Given the description of an element on the screen output the (x, y) to click on. 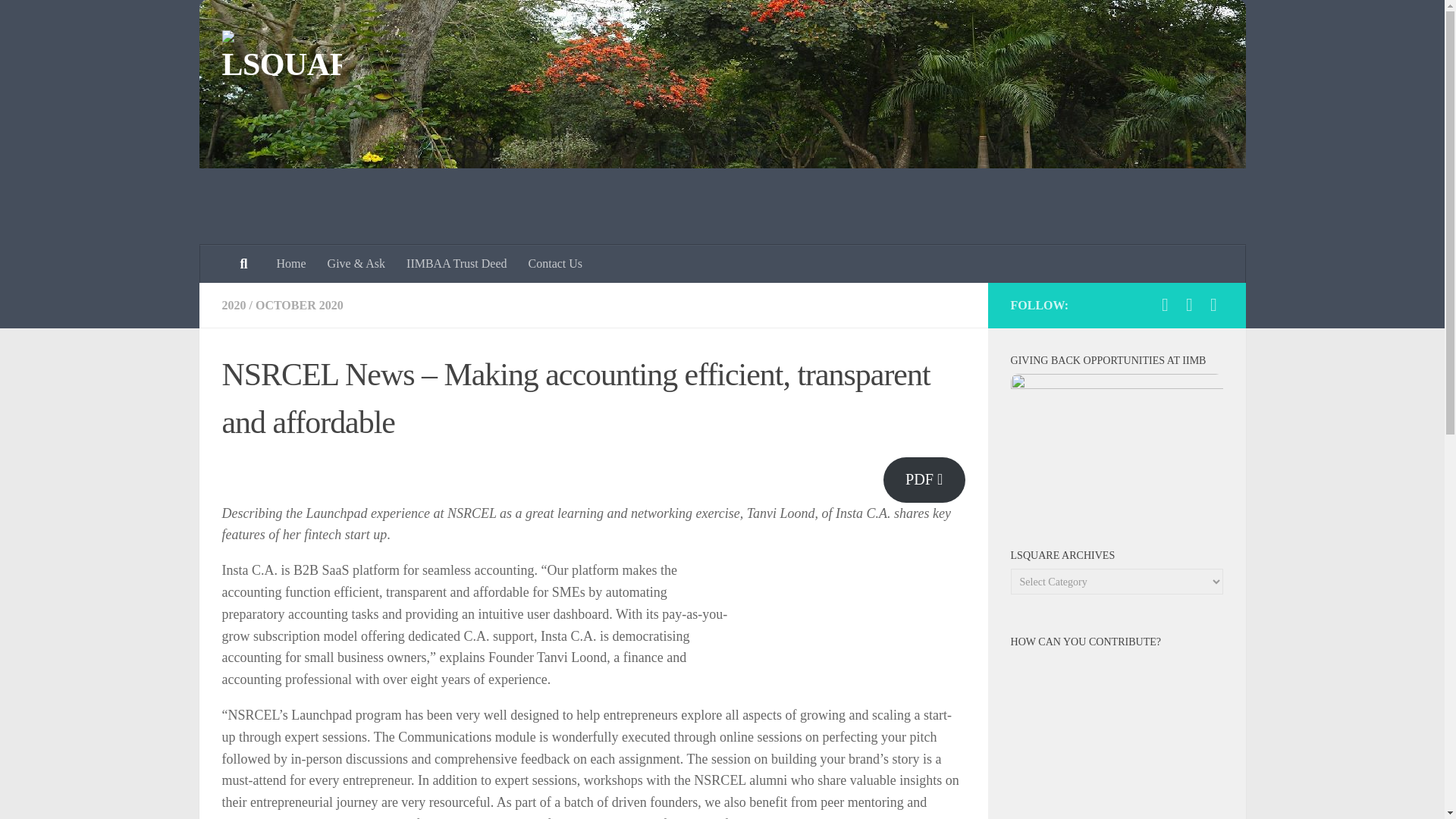
Follow us on Twitter (1213, 304)
IIMBAA Trust Deed (456, 263)
Contact Us (556, 263)
2020 (233, 305)
Skip to content (59, 20)
Follow us on Facebook (1164, 304)
Home (289, 263)
OCTOBER 2020 (299, 305)
Insta C.A (756, 817)
Follow us on Linkedin (1188, 304)
